Given the description of an element on the screen output the (x, y) to click on. 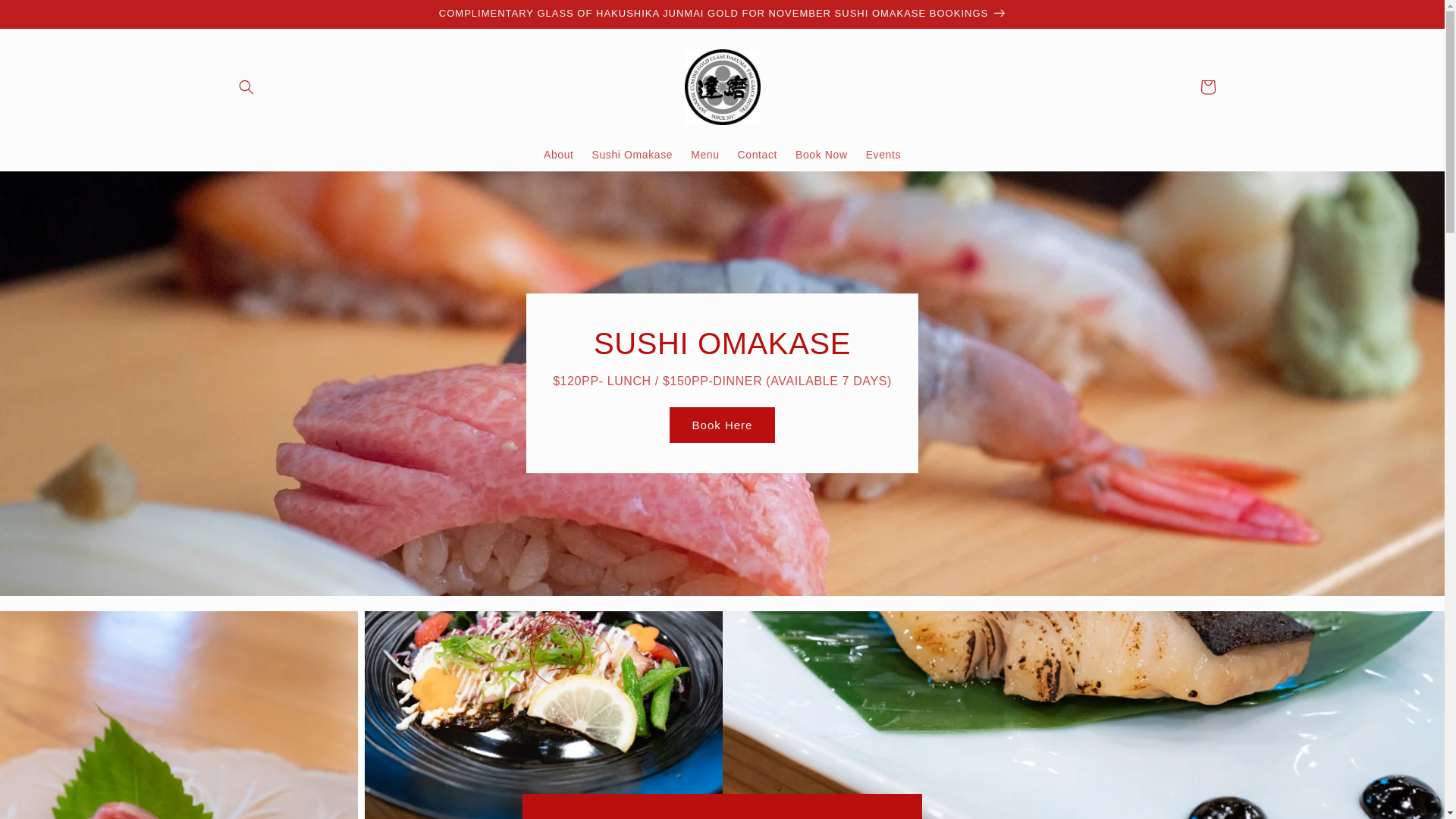
Events Element type: text (883, 154)
About Element type: text (558, 154)
Cart Element type: text (1206, 86)
Book Here Element type: text (722, 424)
Book Now Element type: text (821, 154)
Sushi Omakase Element type: text (632, 154)
Menu Element type: text (704, 154)
Contact Element type: text (757, 154)
